Given the description of an element on the screen output the (x, y) to click on. 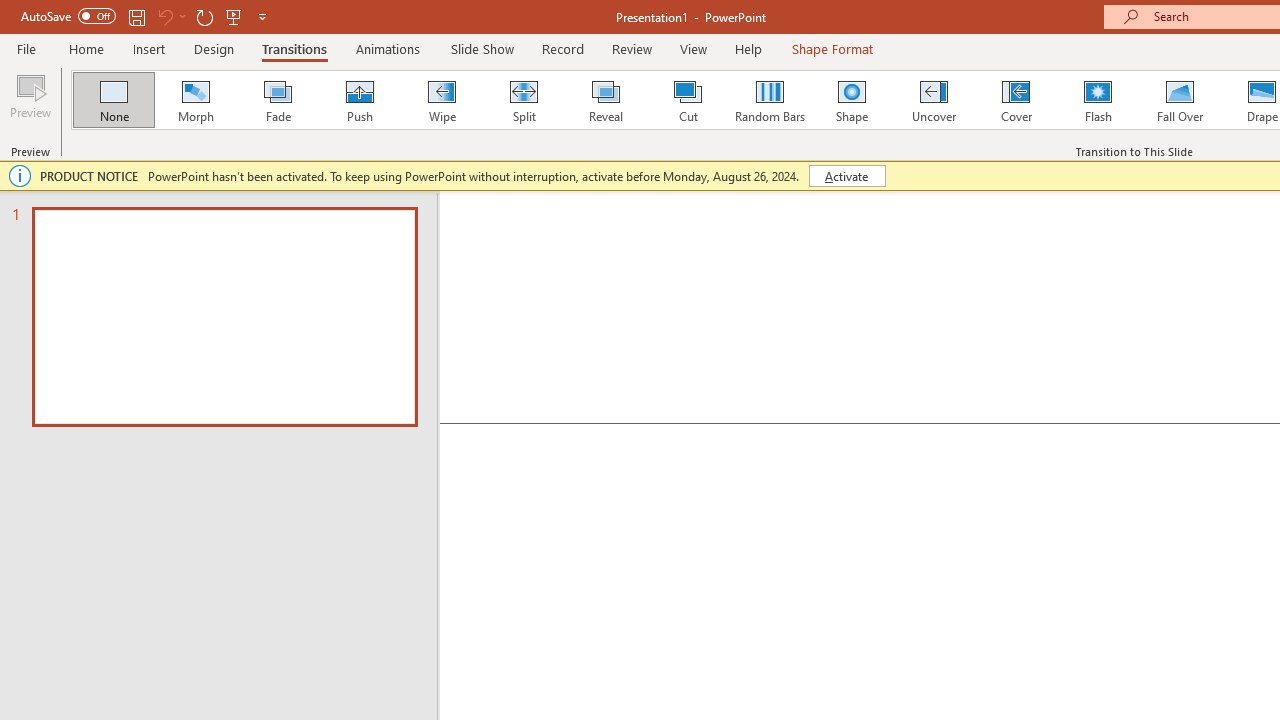
Cover (1016, 100)
Uncover (934, 100)
Split (523, 100)
